Given the description of an element on the screen output the (x, y) to click on. 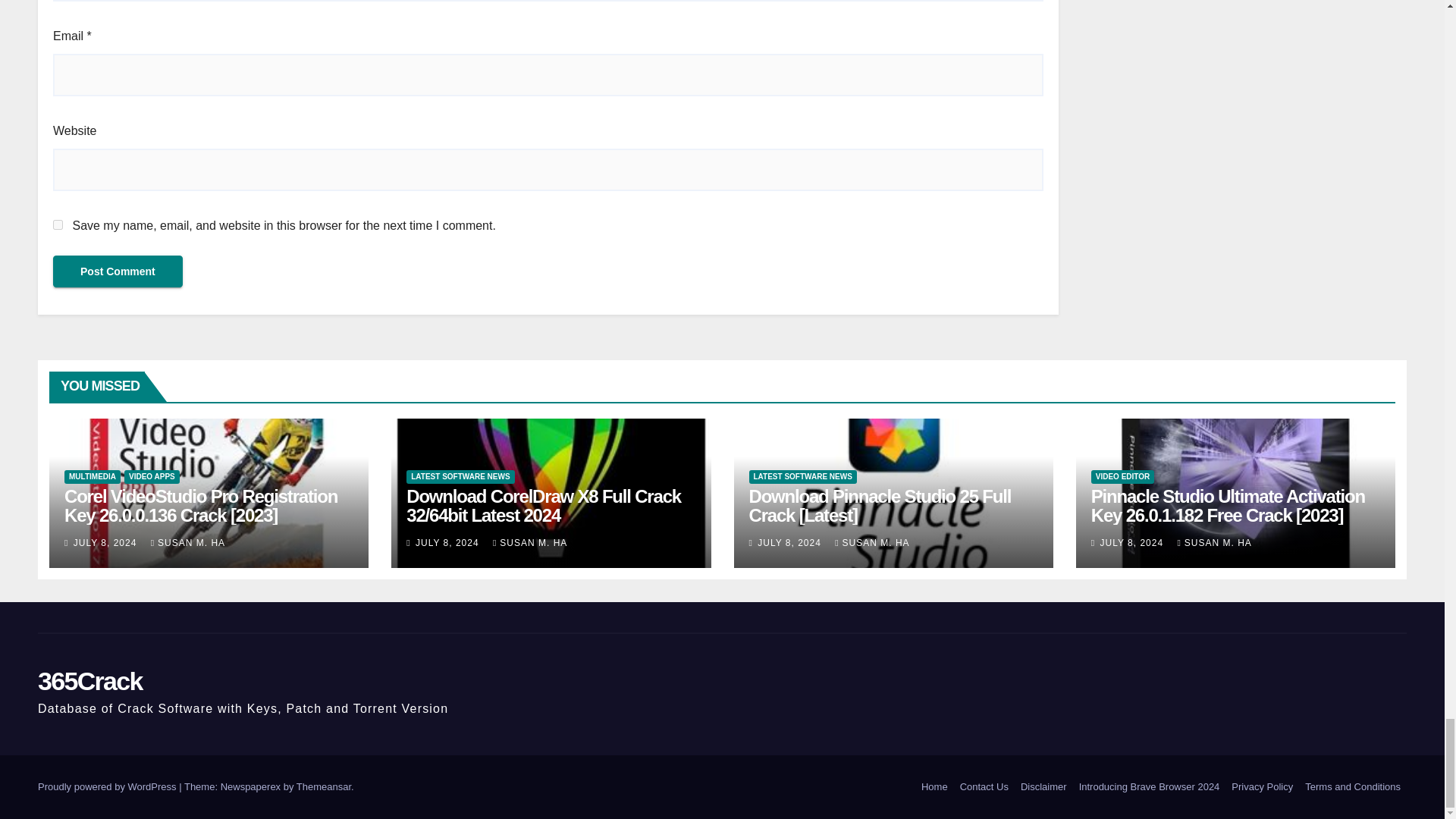
Post Comment (117, 271)
yes (57, 225)
